Given the description of an element on the screen output the (x, y) to click on. 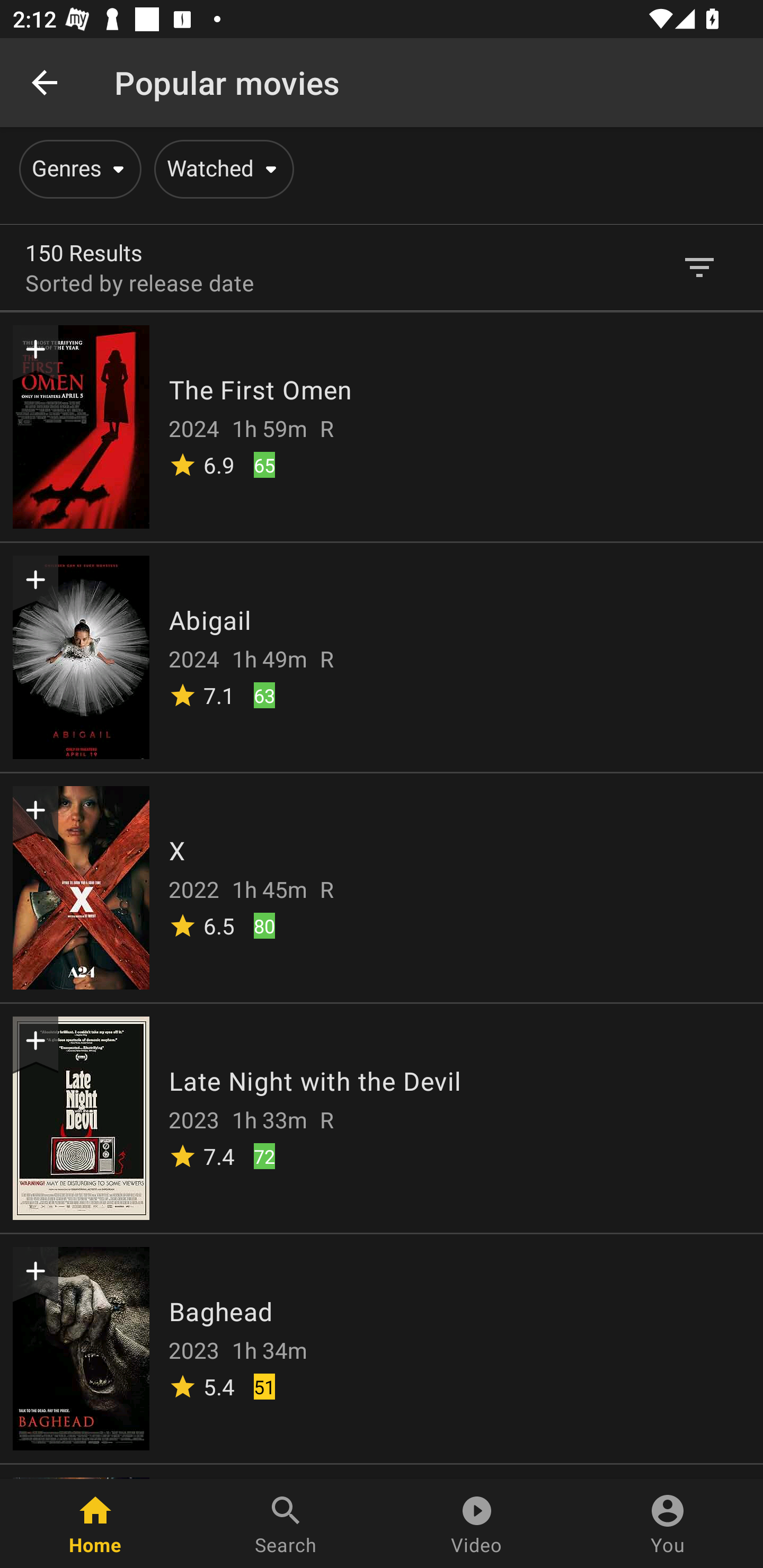
Genres (77, 169)
Watched (220, 169)
The First Omen 2024 1h 59m R 6.9 65 (381, 425)
Abigail 2024 1h 49m R 7.1 63 (381, 655)
X 2022 1h 45m R 6.5 80 (381, 886)
Late Night with the Devil 2023 1h 33m R 7.4 72 (381, 1116)
Baghead 2023 1h 34m 5.4 51 (381, 1347)
Search (285, 1523)
Video (476, 1523)
You (667, 1523)
